Given the description of an element on the screen output the (x, y) to click on. 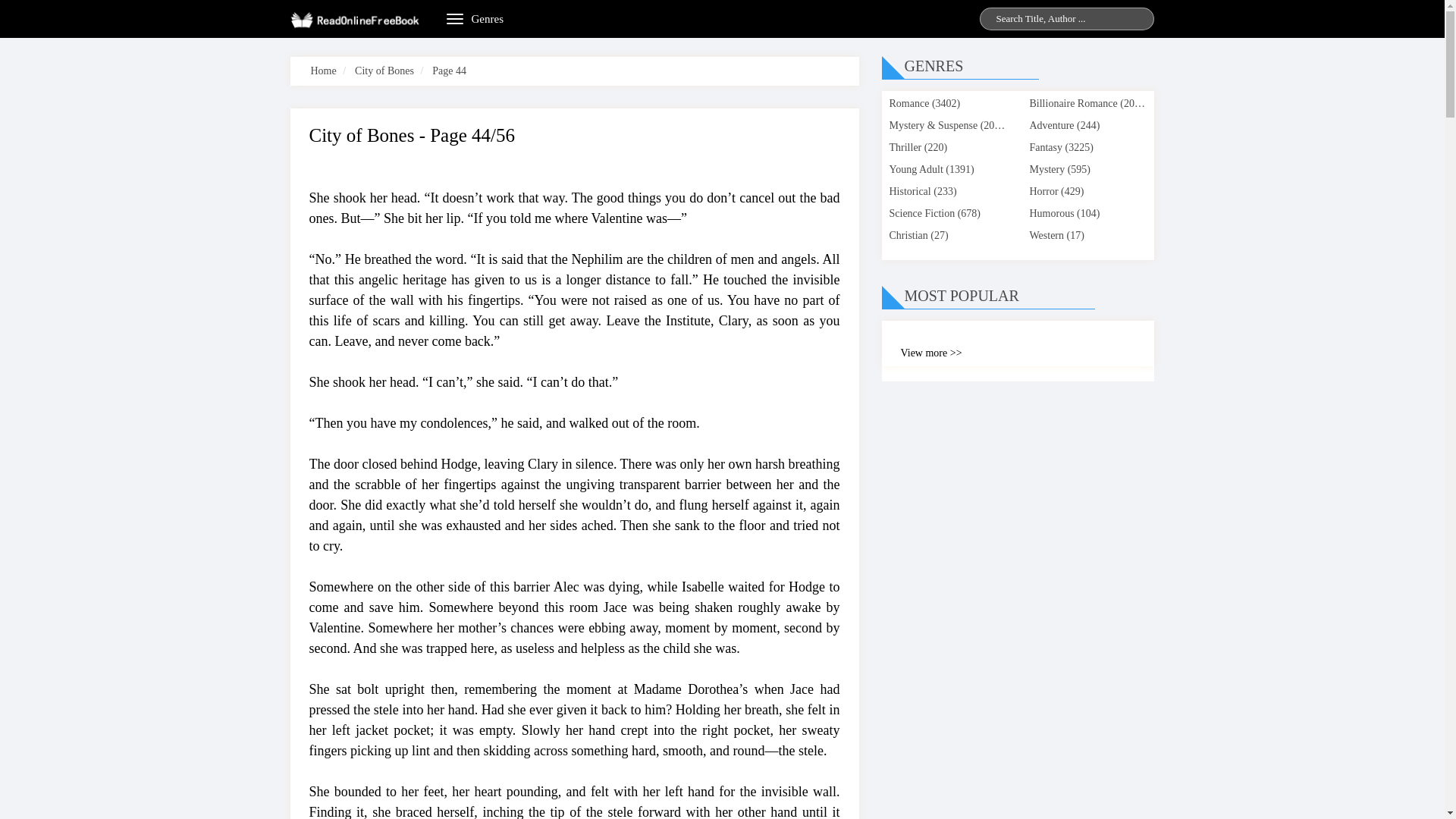
City of Bones (384, 70)
Historical (909, 191)
Fantasy (1045, 147)
Western (1046, 235)
Mystery (1046, 169)
Horror (1043, 191)
Science Fiction (921, 213)
Romance (908, 102)
Humorous (1051, 213)
Page 44 (448, 70)
